Given the description of an element on the screen output the (x, y) to click on. 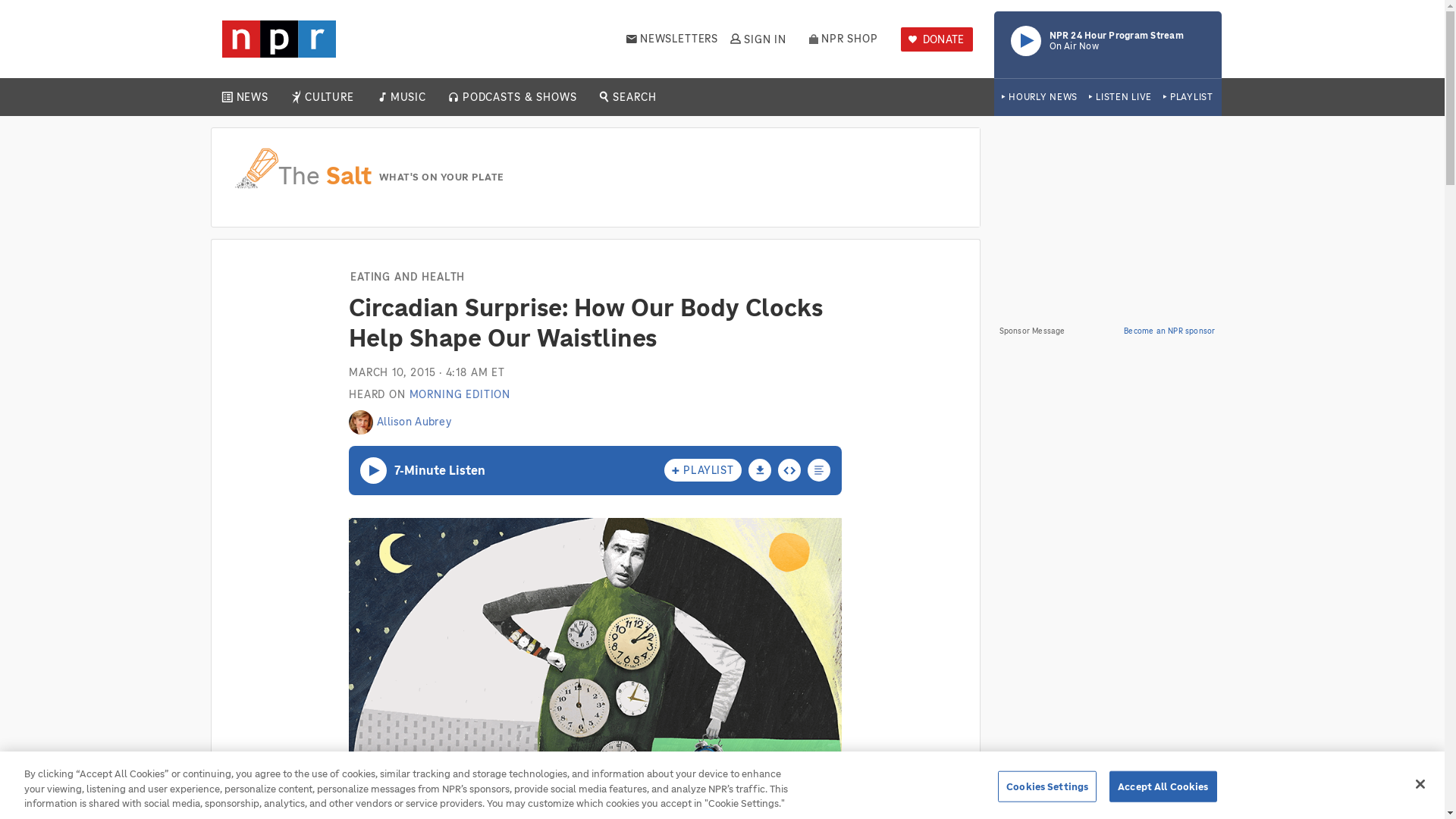
DONATE (1106, 44)
MUSIC (936, 39)
CULTURE (407, 96)
SIGN IN (328, 96)
HOURLY NEWS (757, 38)
NEWS (1039, 97)
PLAYLIST (251, 96)
NPR SHOP (1187, 97)
NEWSLETTERS (843, 38)
LISTEN LIVE (671, 38)
